Given the description of an element on the screen output the (x, y) to click on. 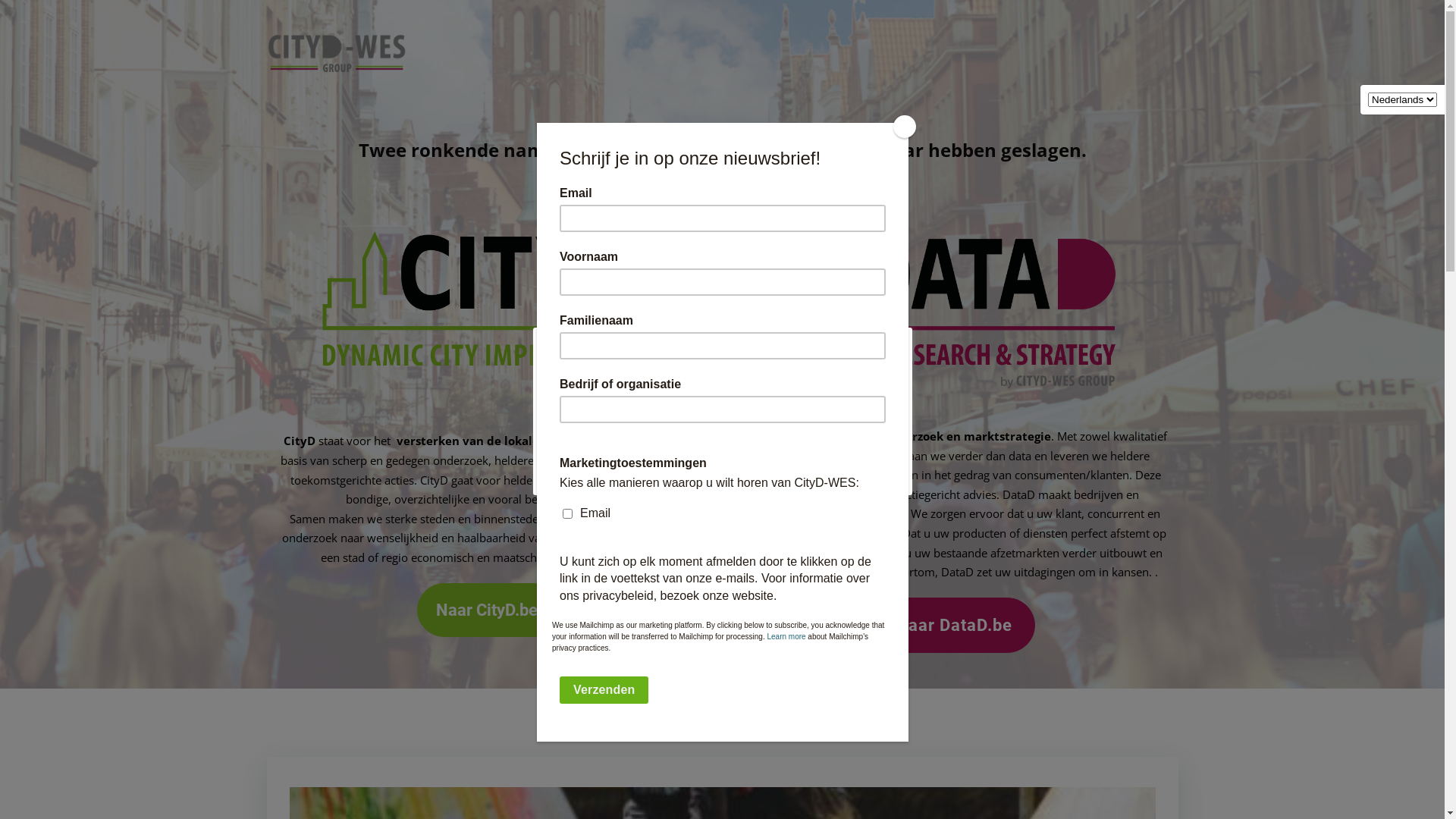
Naar DataD.be Element type: text (955, 624)
Alle aanvaarden Element type: text (722, 454)
Lees meer Element type: text (813, 454)
Naar CityD.be Element type: text (488, 610)
Privacyverklaring Element type: text (796, 711)
Cookie-instellingen Element type: text (619, 454)
